Given the description of an element on the screen output the (x, y) to click on. 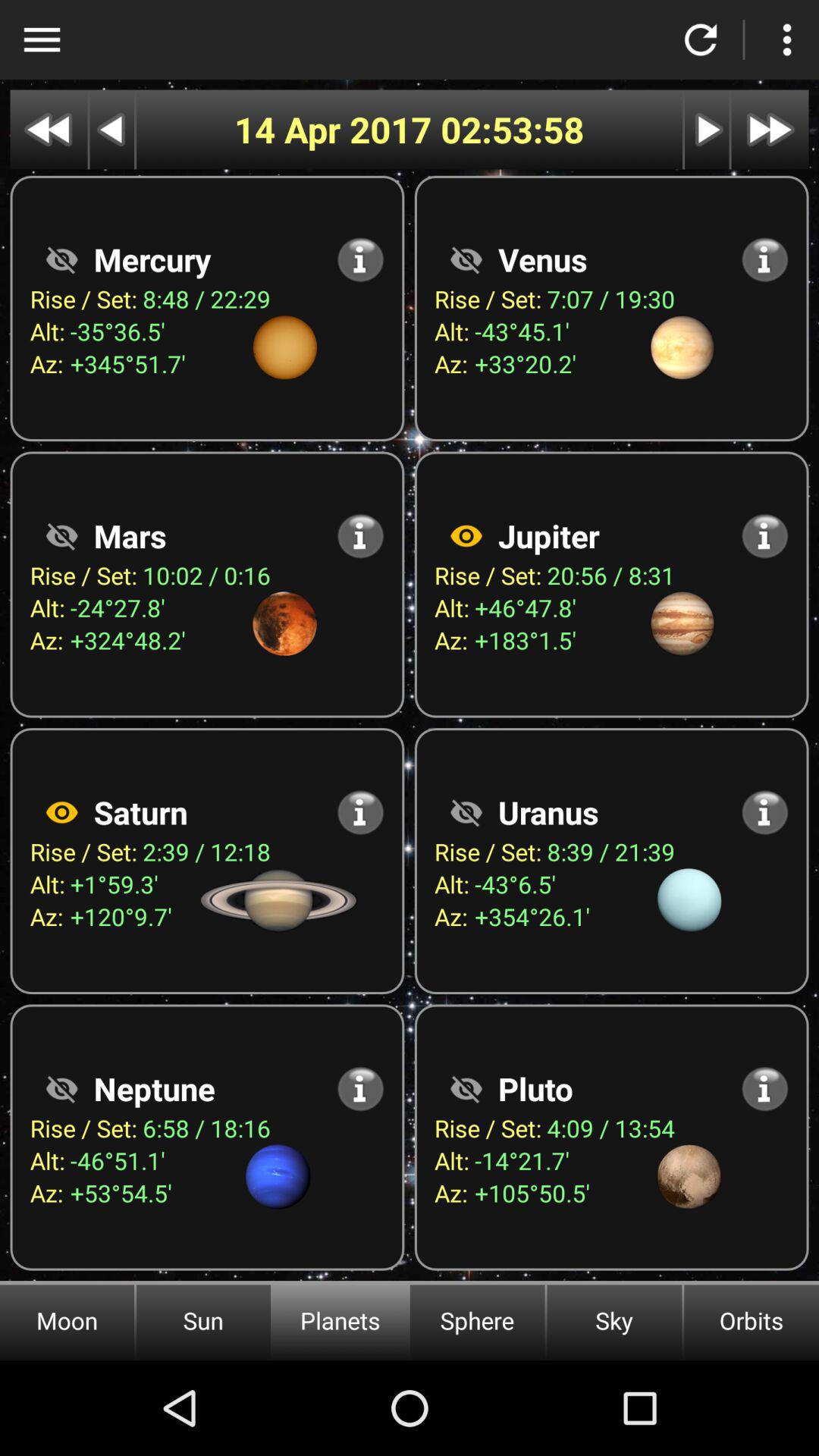
more information (764, 536)
